Given the description of an element on the screen output the (x, y) to click on. 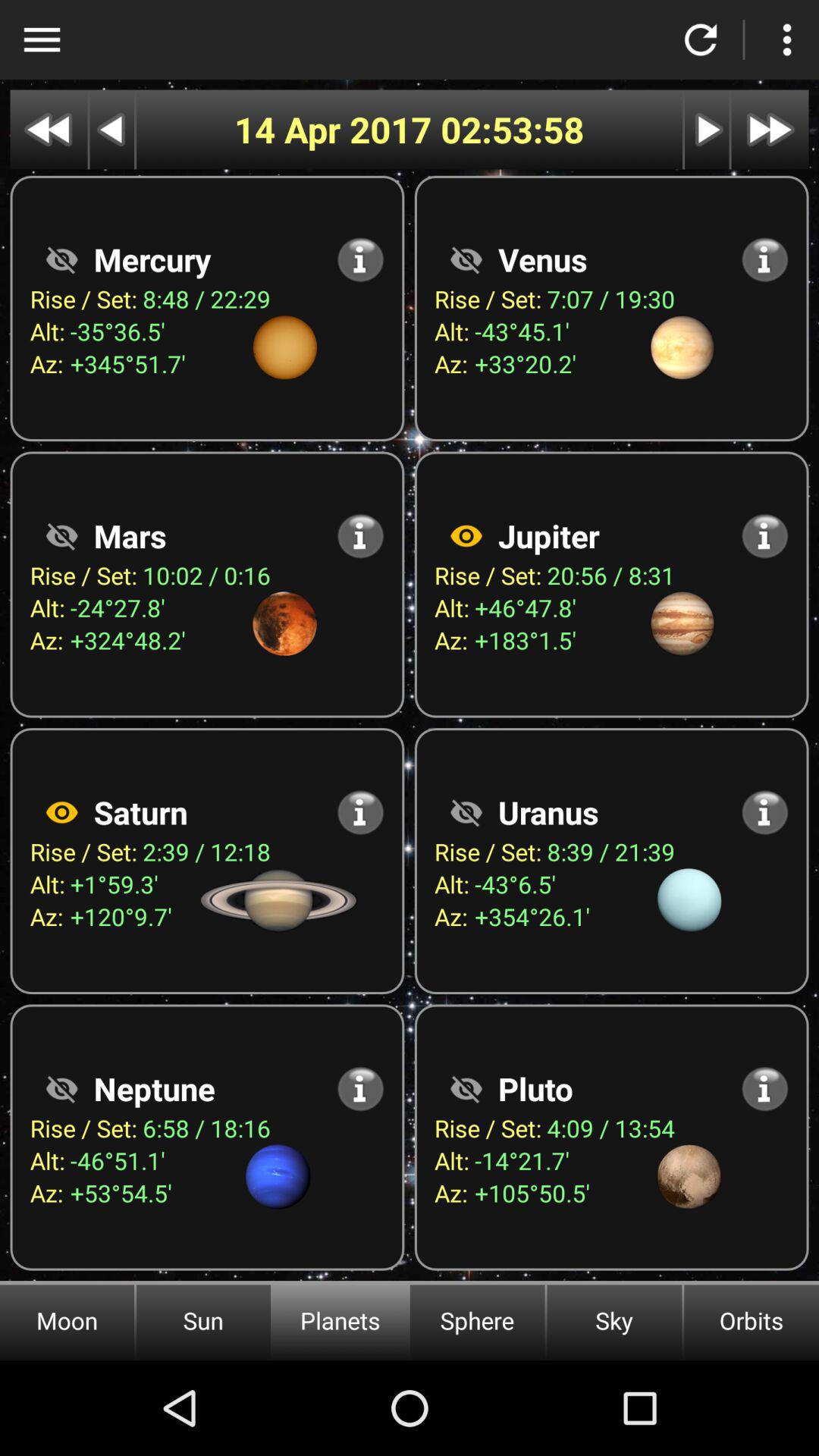
more information (764, 536)
